Given the description of an element on the screen output the (x, y) to click on. 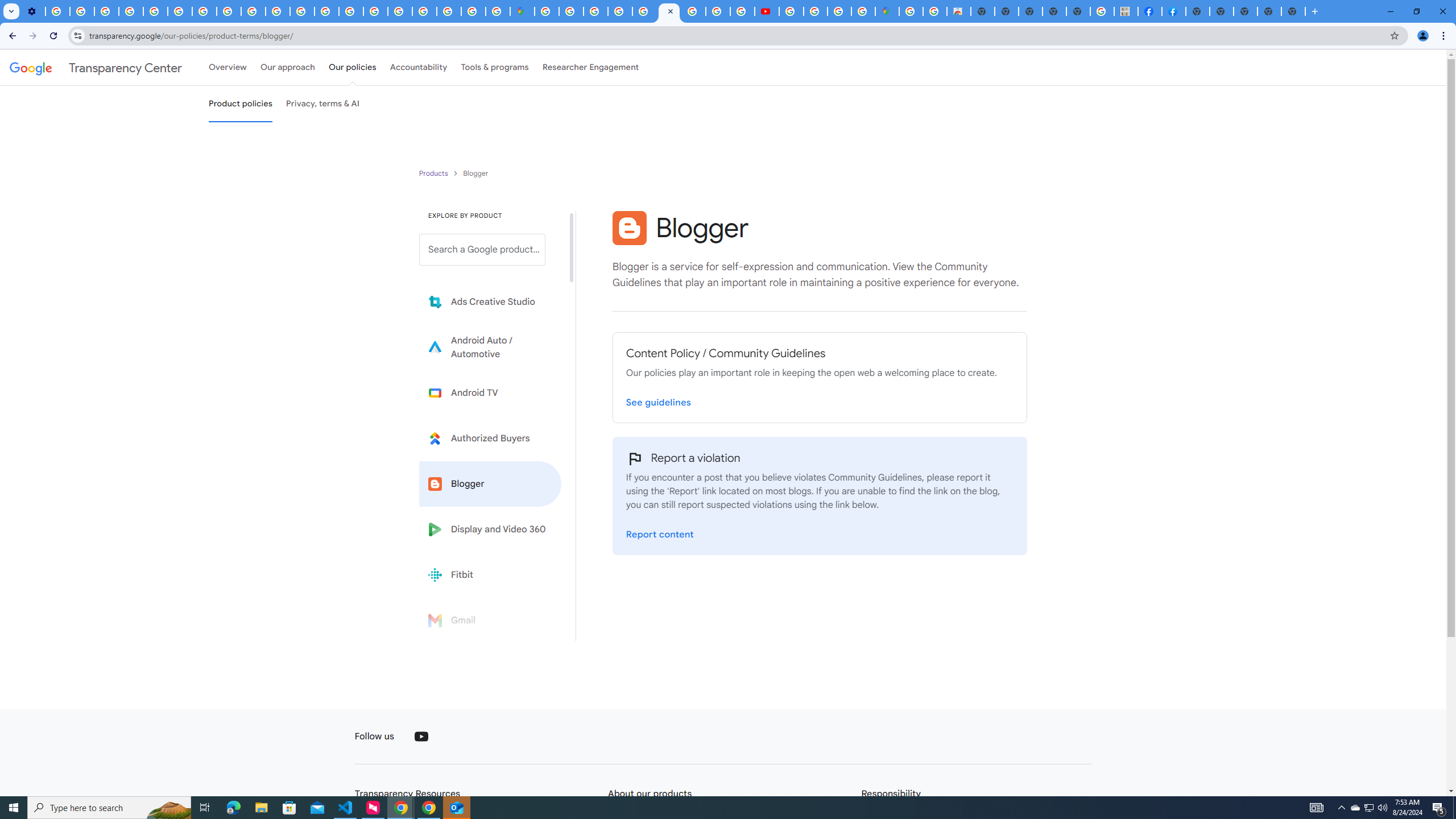
Our approach (287, 67)
Accountability (418, 67)
Chrome Web Store - Shopping (958, 11)
Display and Video 360 (490, 529)
Terms and Conditions (644, 11)
Sign in - Google Accounts (424, 11)
